Given the description of an element on the screen output the (x, y) to click on. 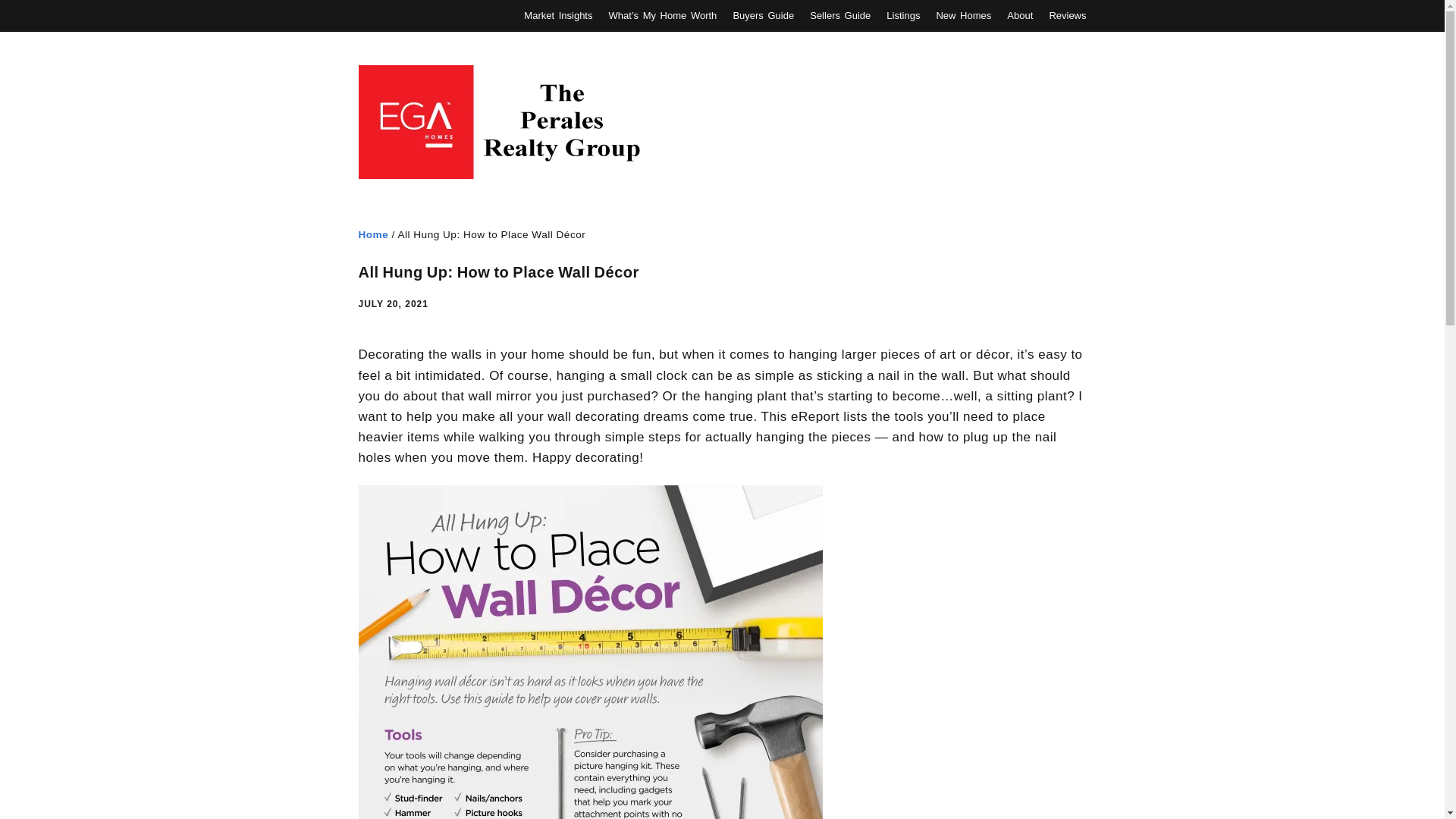
Buyers Guide (762, 15)
Sellers Guide (839, 15)
Listings (903, 15)
Home (373, 234)
About (1019, 15)
Reviews (1067, 15)
Market Insights (558, 15)
New Homes (963, 15)
